Given the description of an element on the screen output the (x, y) to click on. 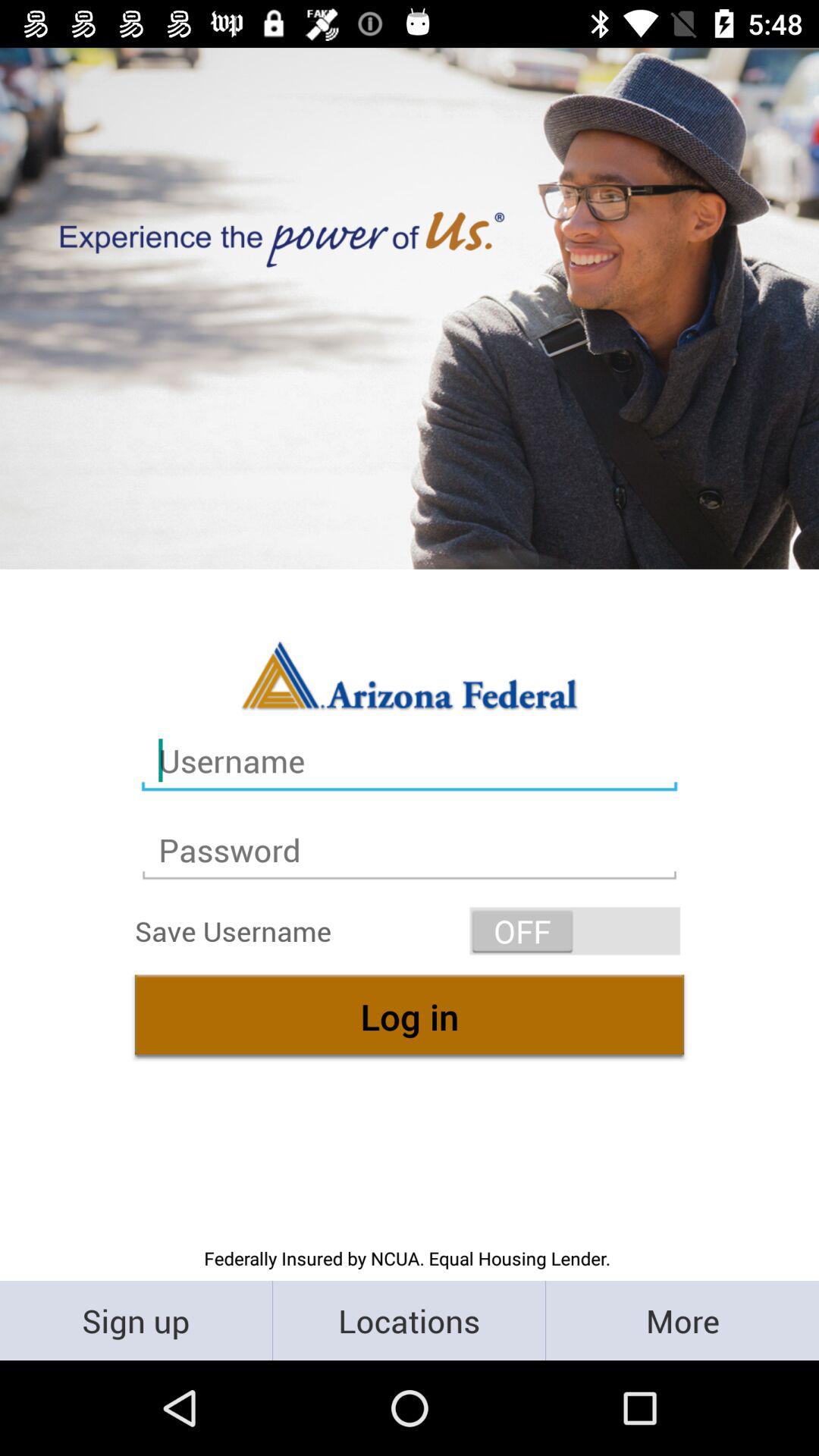
scroll until the more item (682, 1320)
